Given the description of an element on the screen output the (x, y) to click on. 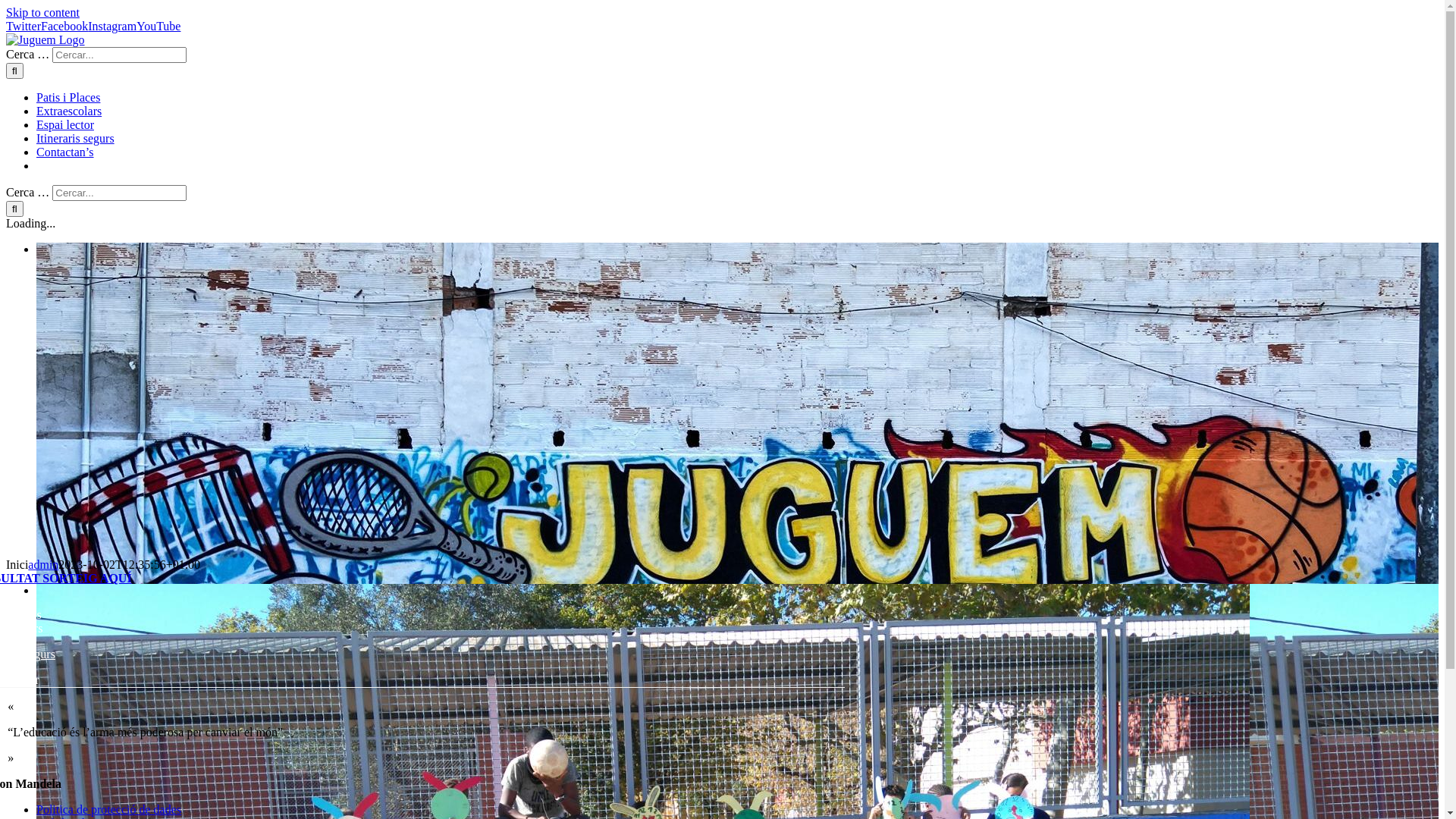
Extraescolars Element type: text (68, 110)
Espai lector Element type: text (65, 124)
admin Element type: text (43, 564)
Twitter Element type: text (23, 25)
Patis i Places Element type: text (68, 97)
Facebook Element type: text (63, 25)
YouTube Element type: text (158, 25)
Itineraris segurs Element type: text (75, 137)
Instagram Element type: text (111, 25)
Skip to content Element type: text (42, 12)
